Given the description of an element on the screen output the (x, y) to click on. 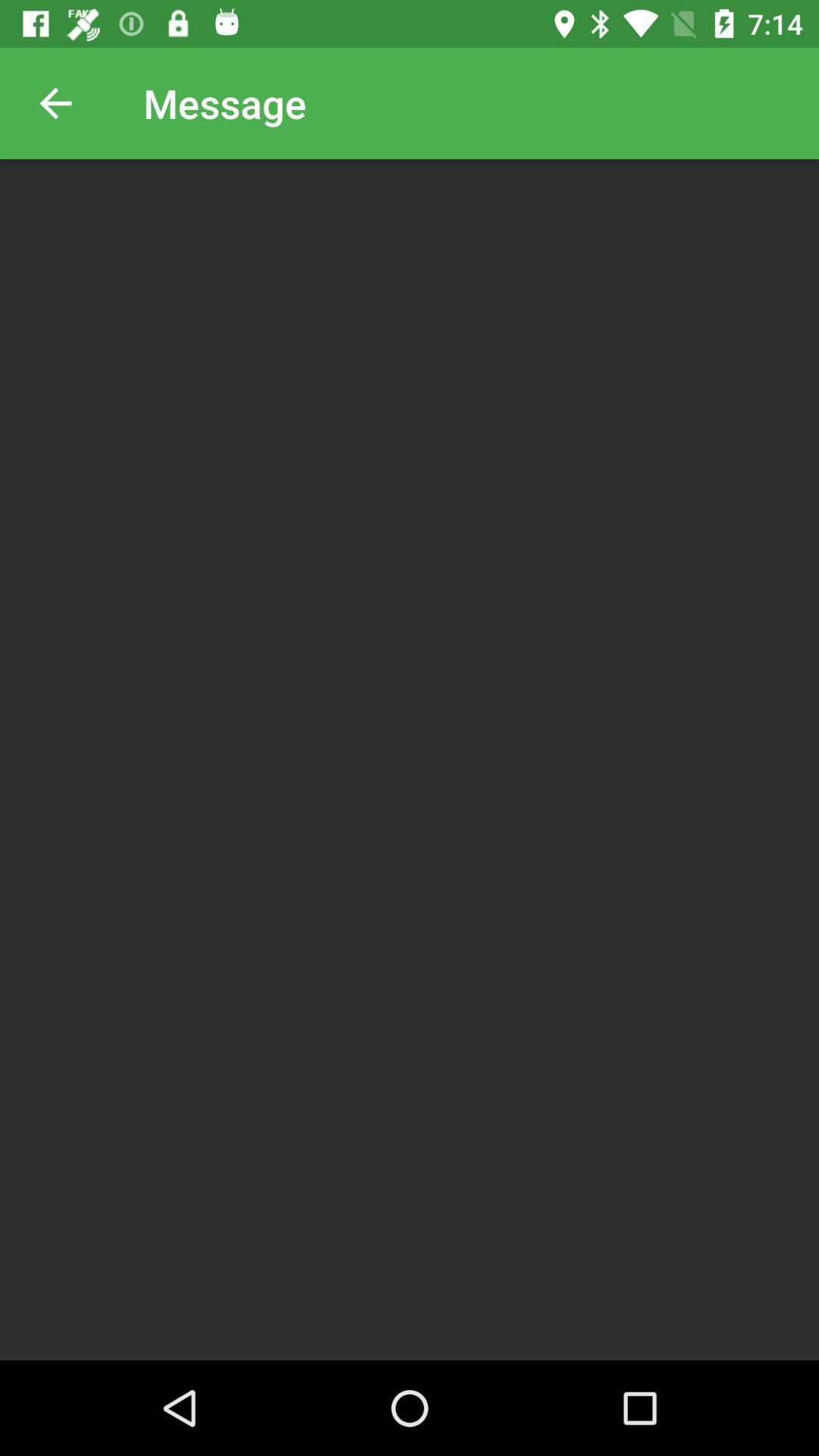
turn off icon to the left of the message icon (55, 103)
